Given the description of an element on the screen output the (x, y) to click on. 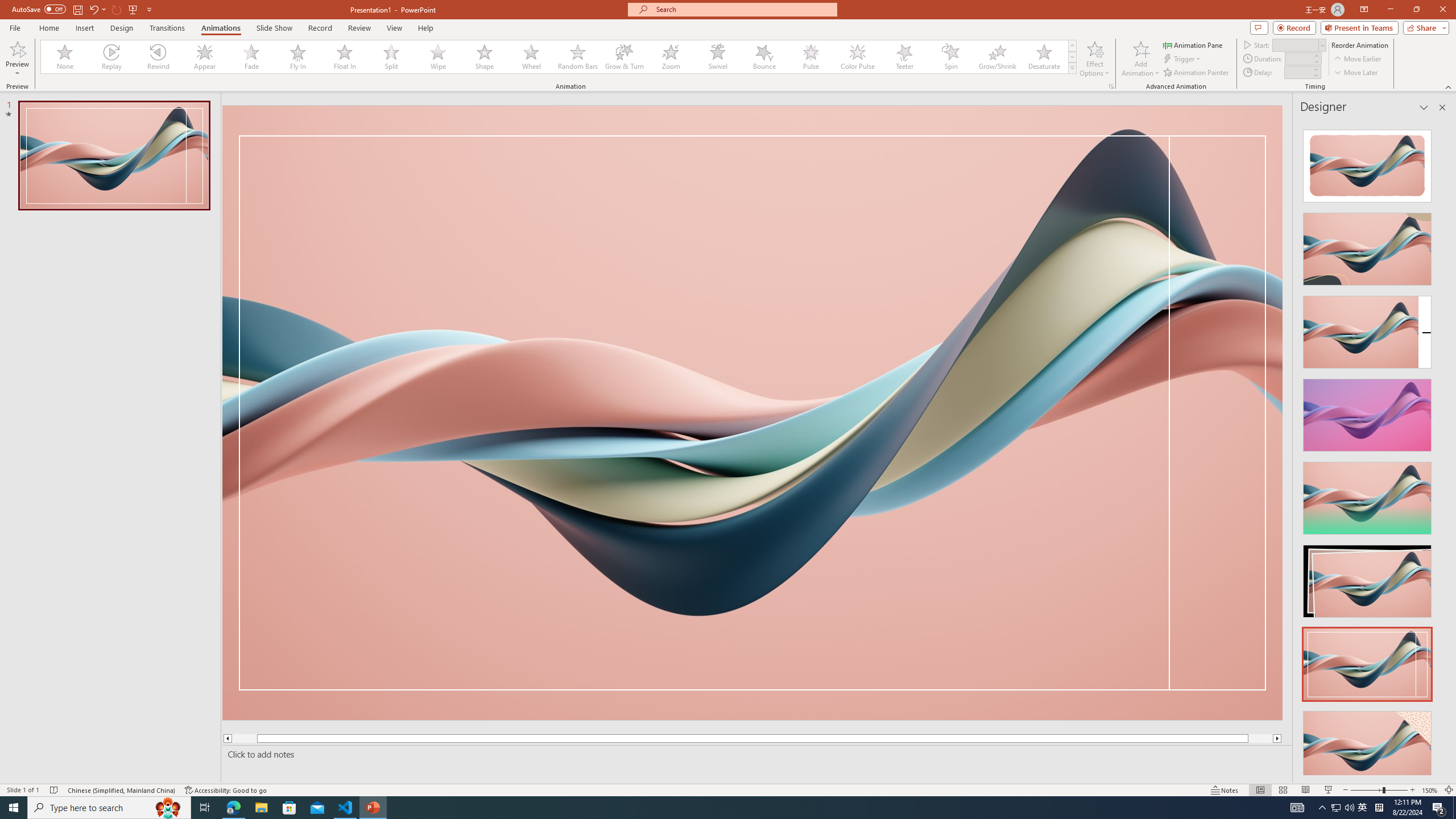
Animation Painter (1196, 72)
Wavy 3D art (752, 412)
Move Later (1355, 72)
